Given the description of an element on the screen output the (x, y) to click on. 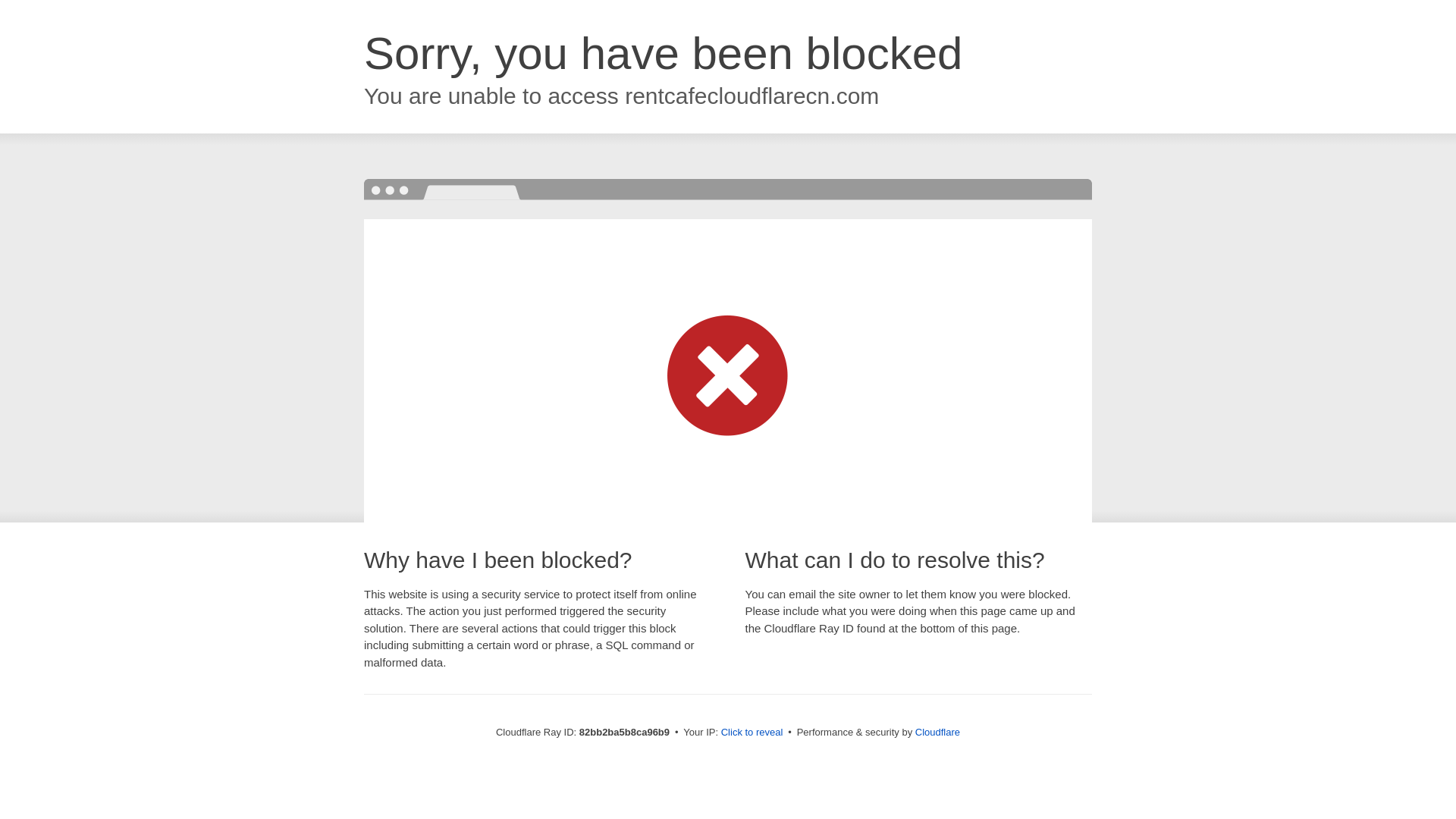
Cloudflare Element type: text (937, 731)
Click to reveal Element type: text (752, 732)
